Given the description of an element on the screen output the (x, y) to click on. 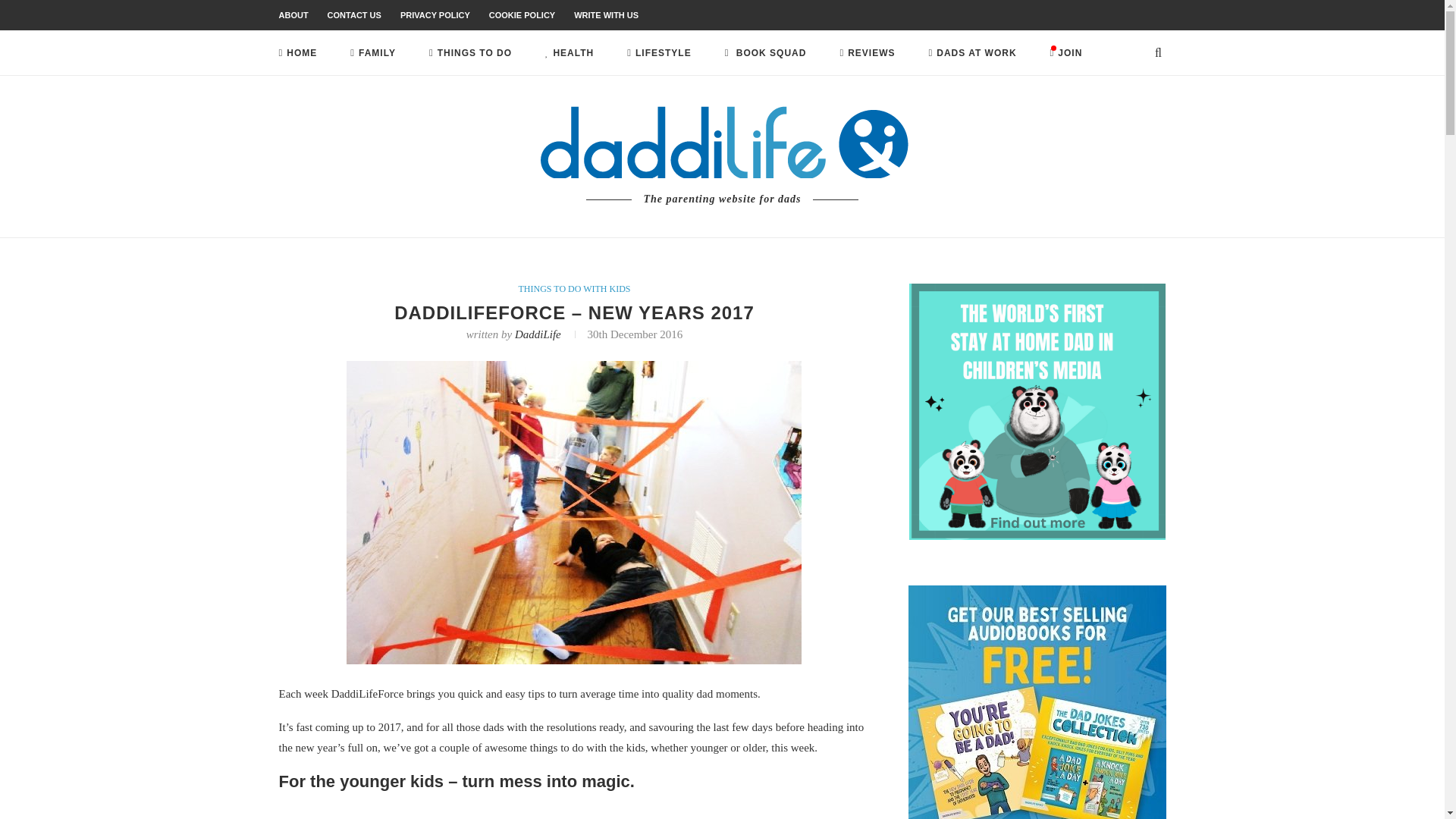
View all posts in Things to do with Kids (574, 288)
